Given the description of an element on the screen output the (x, y) to click on. 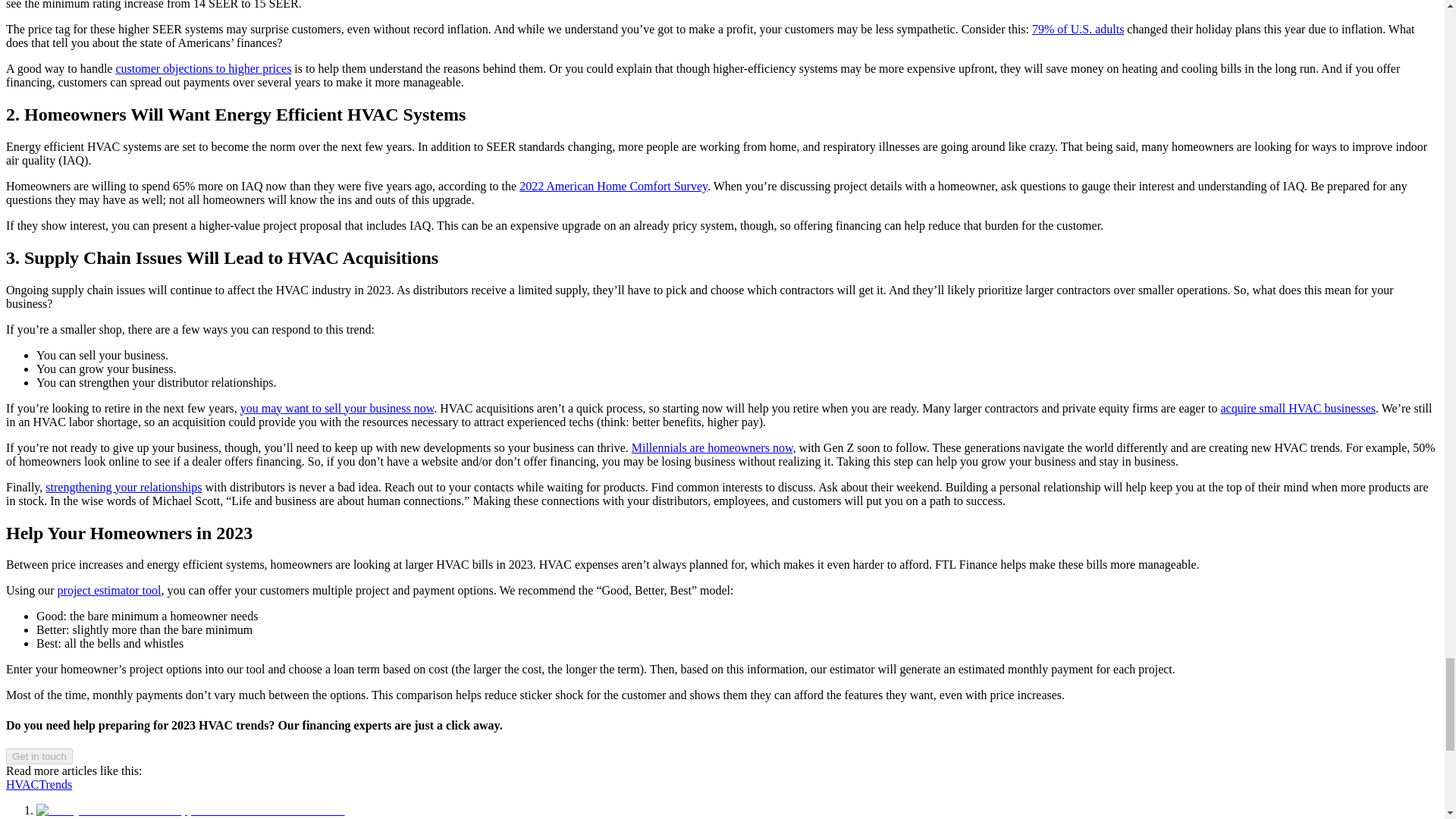
HVAC (22, 784)
customer objections to higher prices (203, 68)
Millennials are homeowners now, (713, 447)
Get in touch (38, 755)
strengthening your relationships (123, 486)
you may want to sell your business now (336, 408)
Trends (55, 784)
acquire small HVAC businesses (1298, 408)
2022 American Home Comfort Survey (613, 185)
Get in touch (38, 756)
project estimator tool (109, 590)
